Given the description of an element on the screen output the (x, y) to click on. 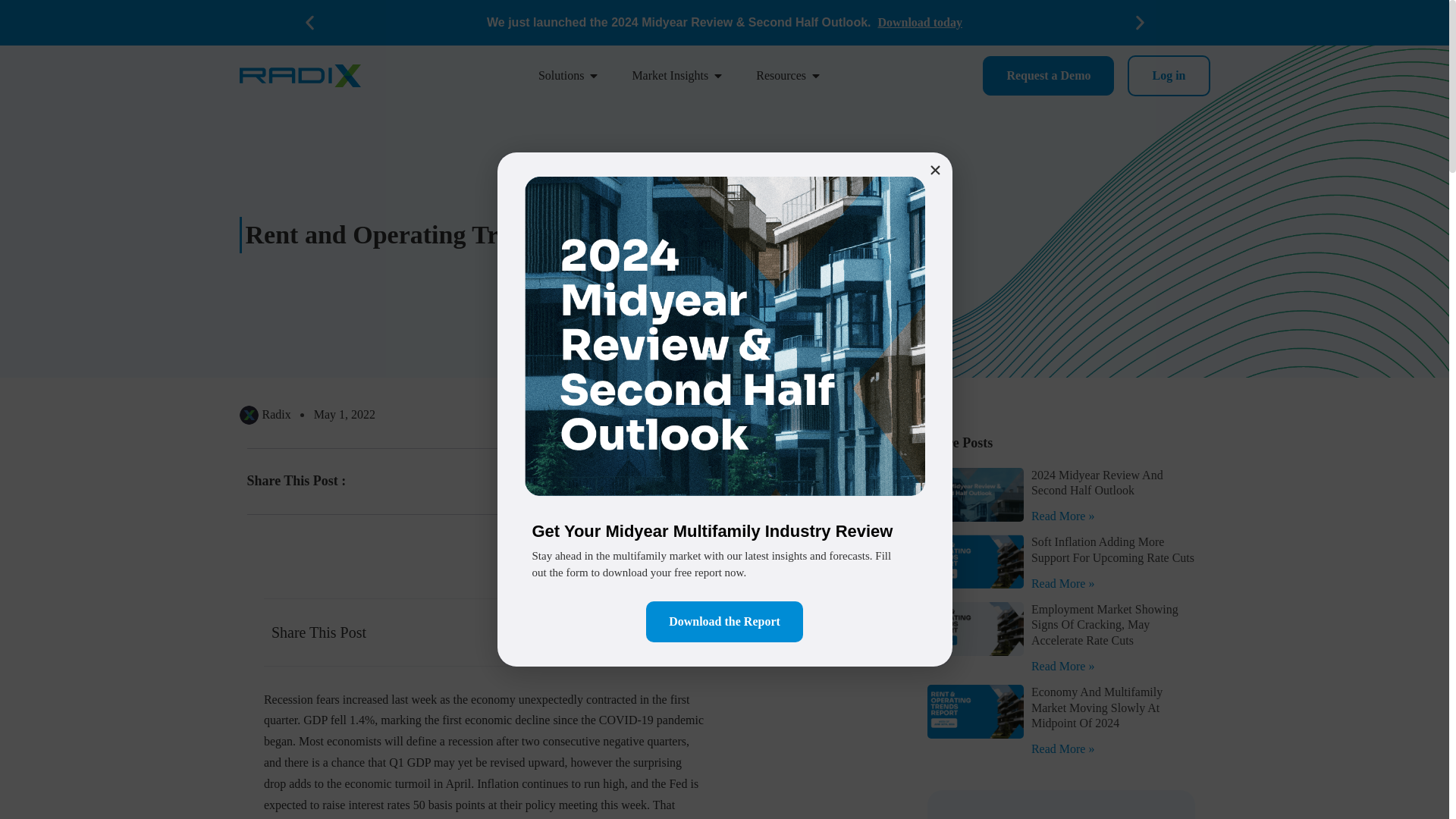
Request a Demo (1047, 75)
Log in (1167, 75)
Open Solutions (593, 75)
Market Insights (669, 75)
Open Market Insights (717, 75)
Solutions (560, 75)
Open Resources (815, 75)
Resources (780, 75)
Download today (919, 21)
